Given the description of an element on the screen output the (x, y) to click on. 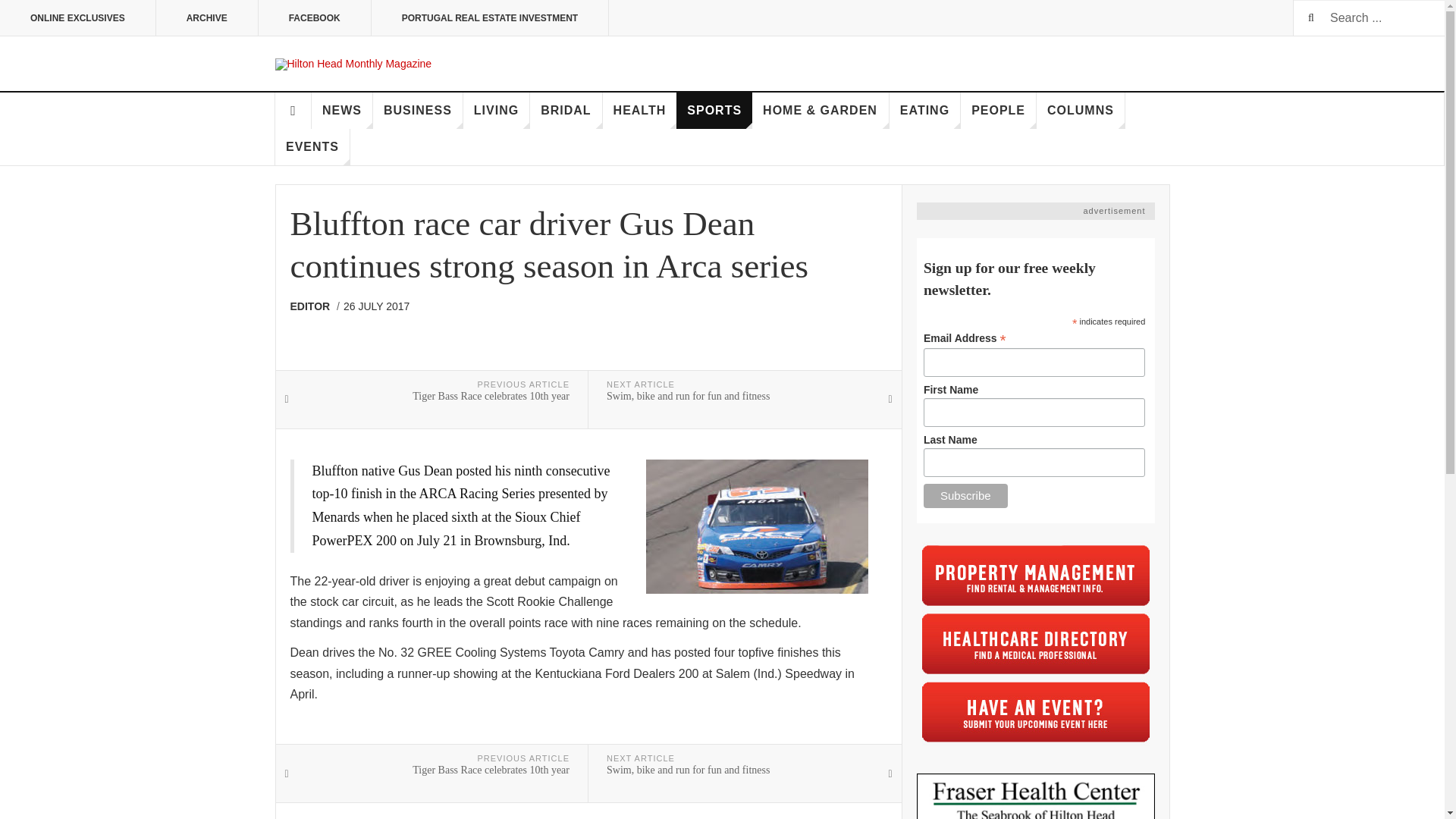
Hilton Head Monthly Magazine (352, 64)
Written by  (314, 306)
Subscribe (965, 495)
Fraser Health (1034, 796)
ARCHIVE (207, 18)
Published:  (376, 306)
Hilton Head Medical Guide (1035, 643)
Hilton Head Property Management (1035, 575)
ONLINE EXCLUSIVES (77, 18)
FACEBOOK (315, 18)
PORTUGAL REAL ESTATE INVESTMENT (489, 18)
Hilton Head Events (1035, 712)
